Given the description of an element on the screen output the (x, y) to click on. 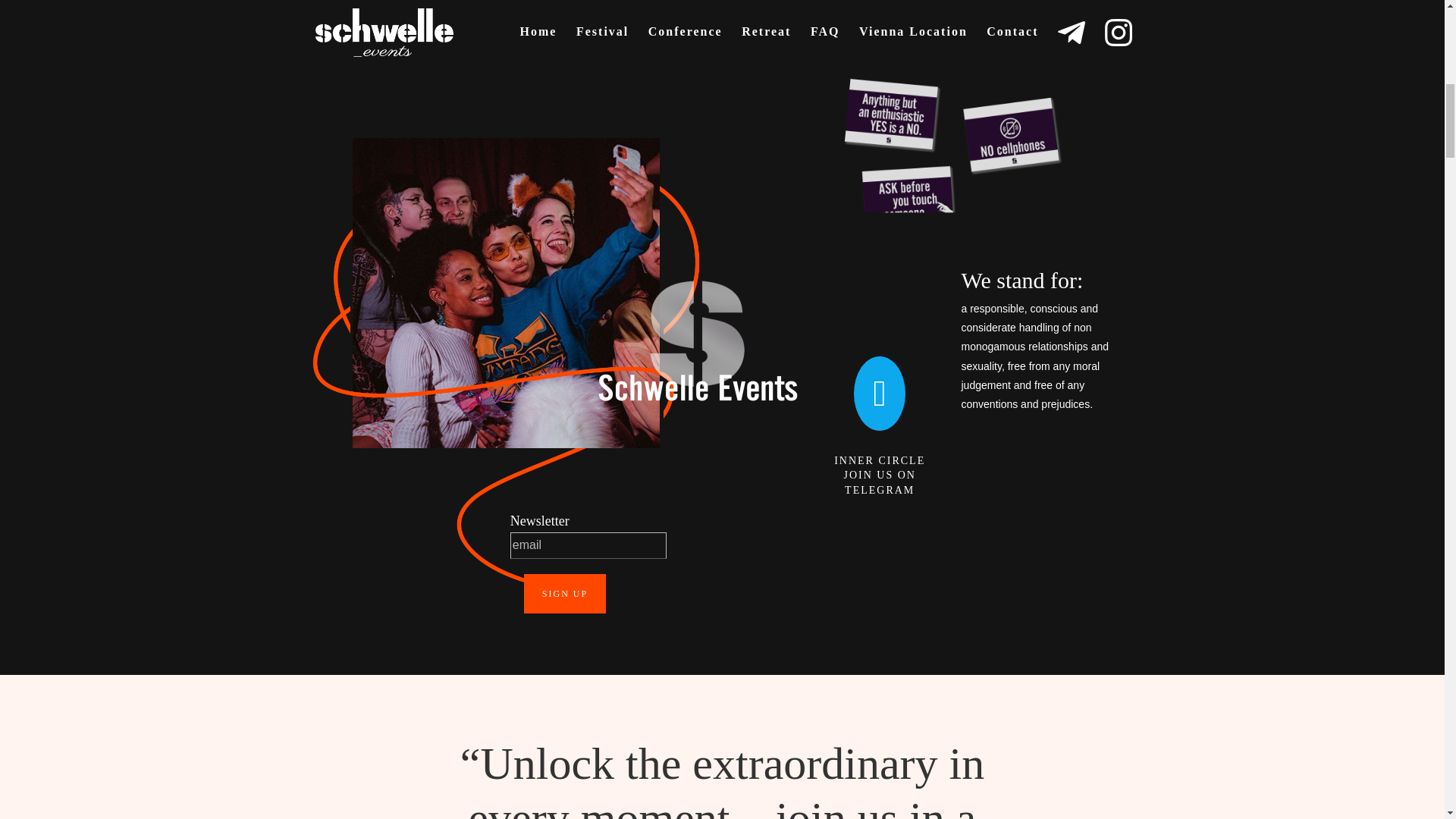
Sign up (564, 593)
event-space-49 (505, 512)
INNER CIRCLE JOIN US ON TELEGRAM (879, 475)
Schwelle2-10 klein (505, 292)
Sign up (564, 593)
Montage Tafeln neu (948, 153)
event-space-50 (505, 362)
event-space-47 (505, 245)
